Given the description of an element on the screen output the (x, y) to click on. 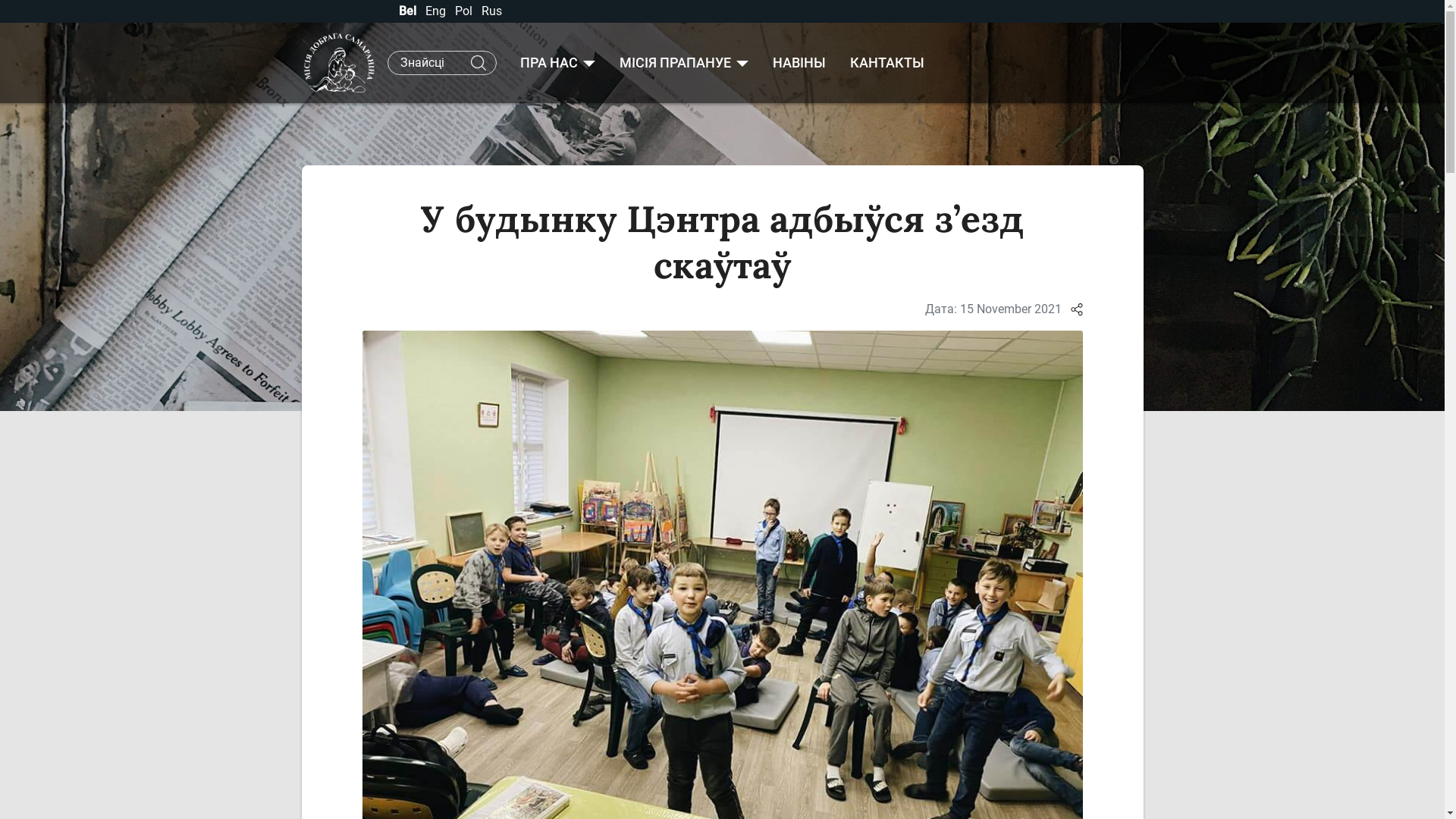
Pol Element type: text (465, 10)
Eng Element type: text (436, 10)
Rus Element type: text (490, 10)
Bel Element type: text (408, 10)
